Given the description of an element on the screen output the (x, y) to click on. 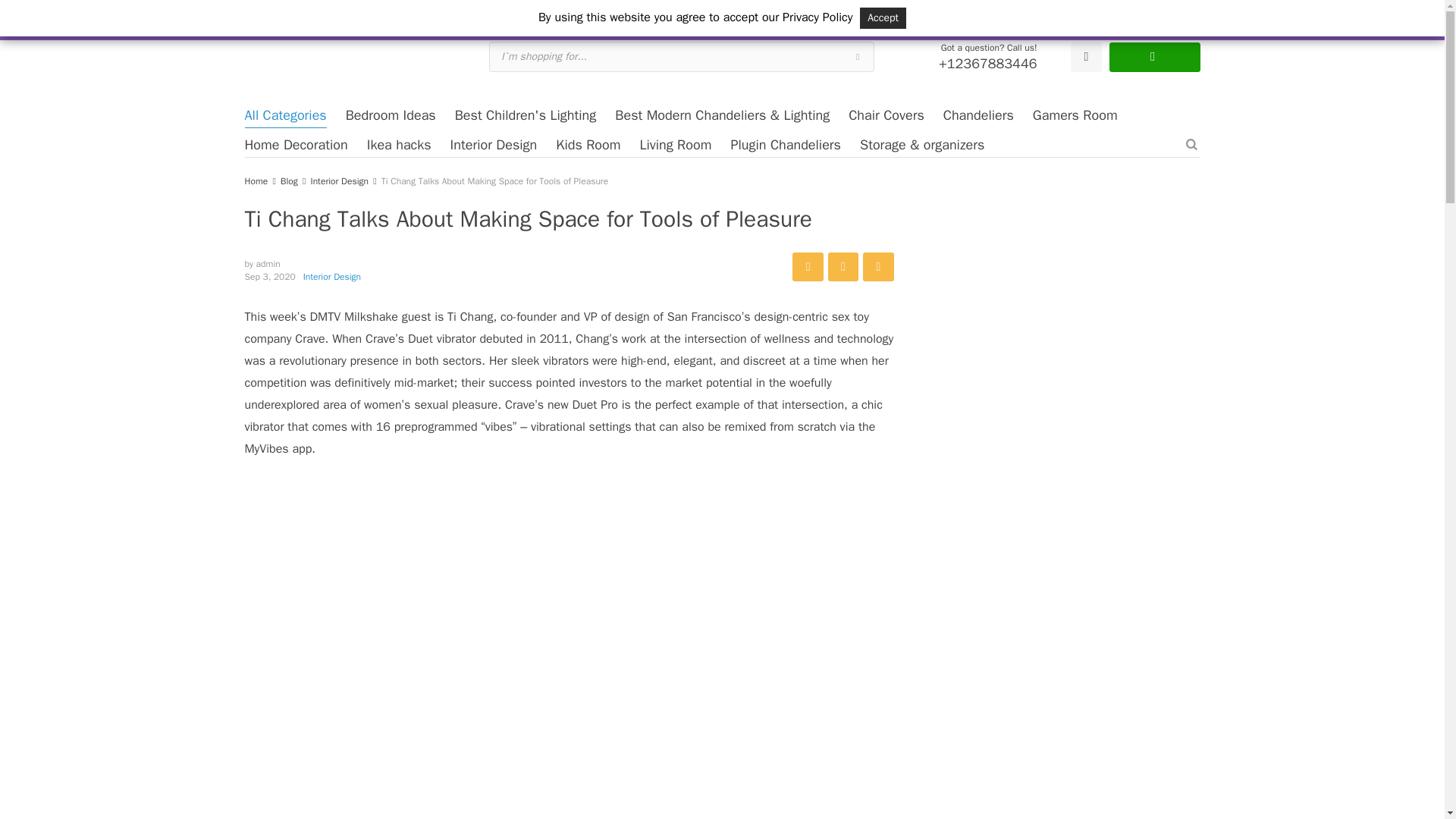
All Categories (285, 115)
Wishlist (1085, 57)
Top Selling (462, 11)
New Arrivals (390, 11)
All Products (316, 11)
Home (257, 11)
Track Your Order (1038, 10)
